Given the description of an element on the screen output the (x, y) to click on. 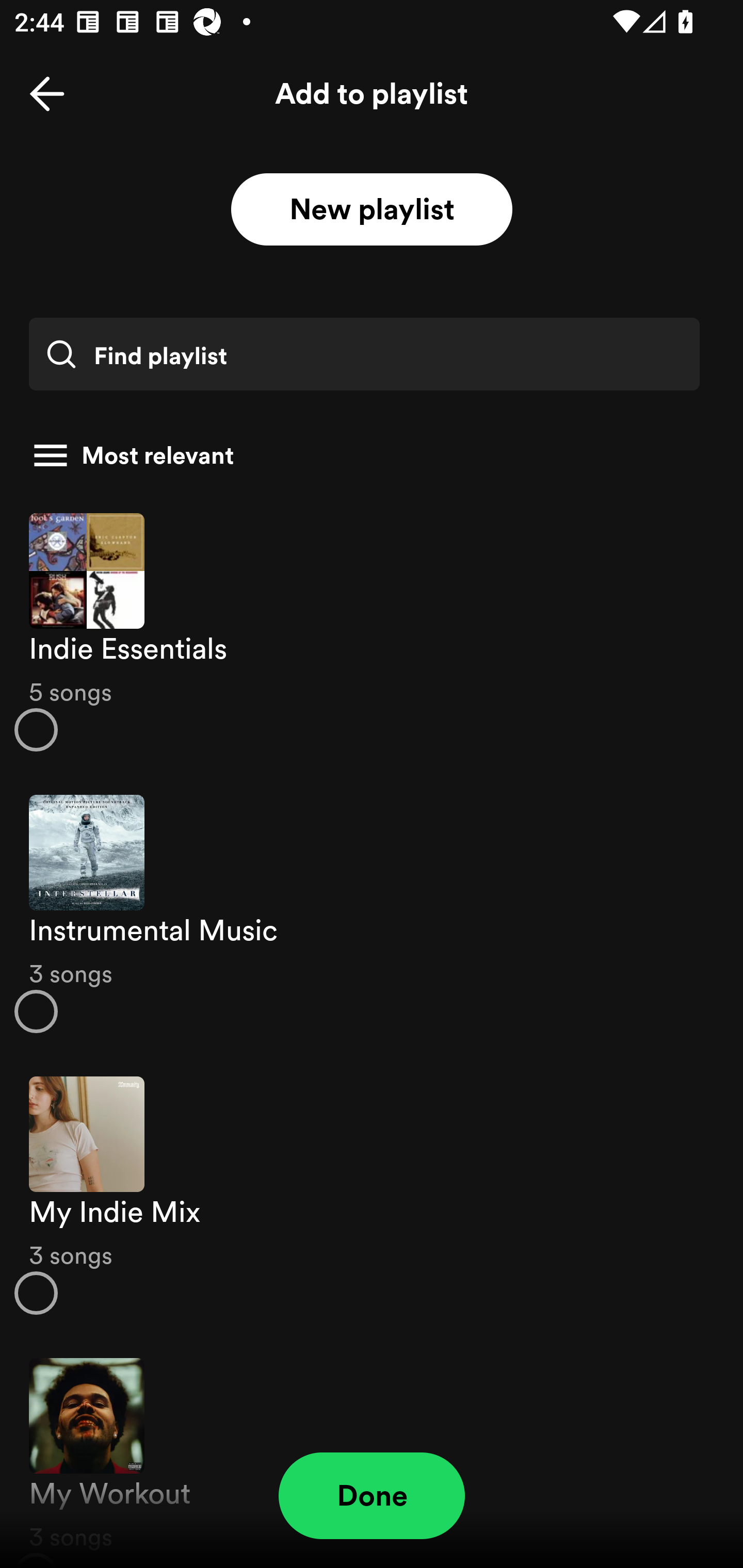
Back (46, 93)
New playlist (371, 210)
Find playlist (363, 354)
Most relevant (363, 455)
Indie Essentials 5 songs (371, 631)
Instrumental Music 3 songs (371, 914)
My Indie Mix 3 songs (371, 1195)
My Workout 3 songs (371, 1451)
Done (371, 1495)
